Given the description of an element on the screen output the (x, y) to click on. 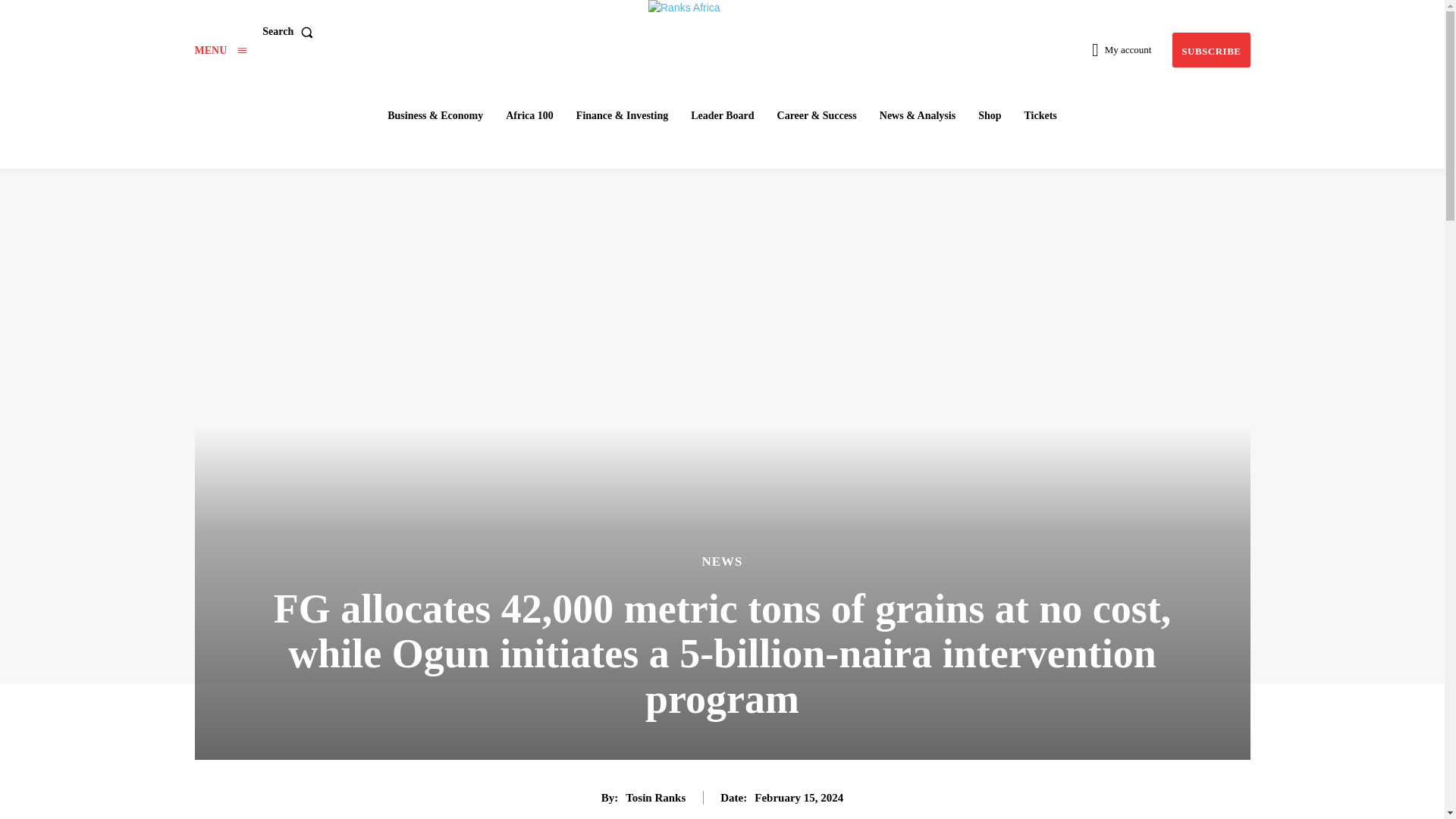
Ranks Africa (723, 29)
Ranks Africa (724, 29)
Menu (220, 50)
Subscribe (1210, 49)
